Given the description of an element on the screen output the (x, y) to click on. 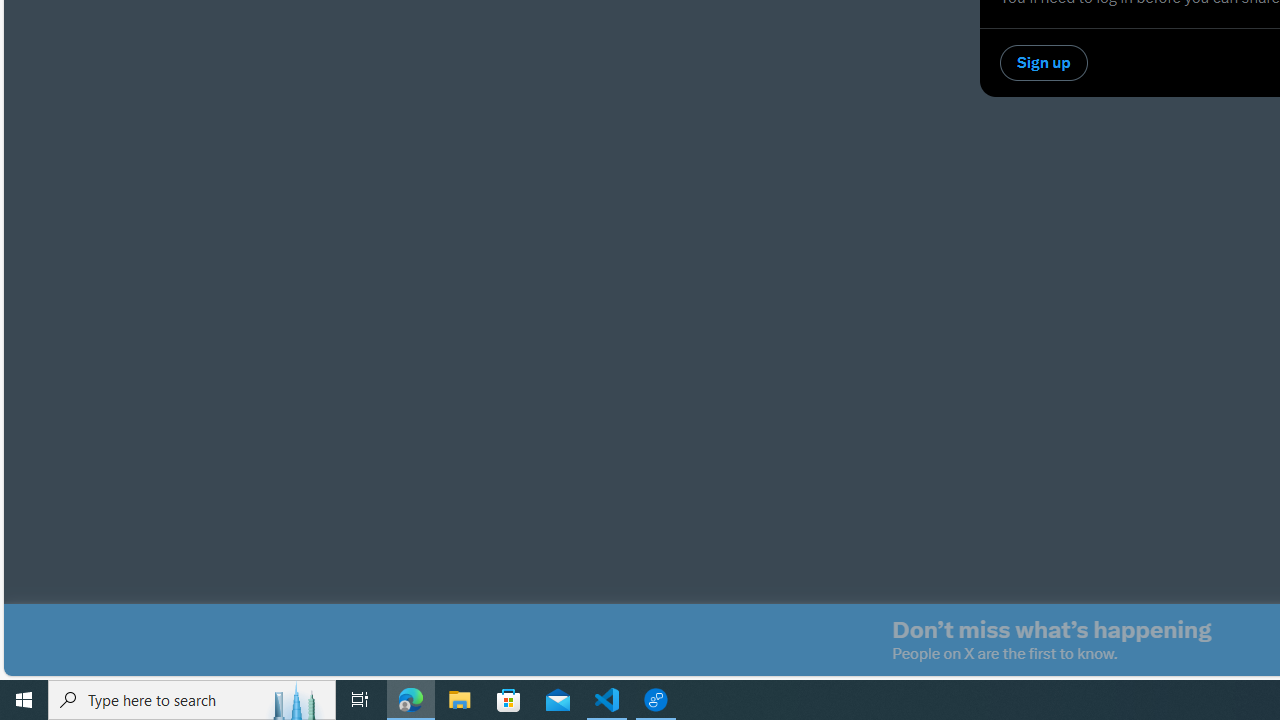
Search highlights icon opens search home window (295, 699)
Type here to search (191, 699)
Microsoft Edge - 1 running window (411, 699)
File Explorer (460, 699)
Start (24, 699)
Microsoft Store (509, 699)
Task View (359, 699)
Edge Feedback - 1 running window (656, 699)
Visual Studio Code - 1 running window (607, 699)
